Given the description of an element on the screen output the (x, y) to click on. 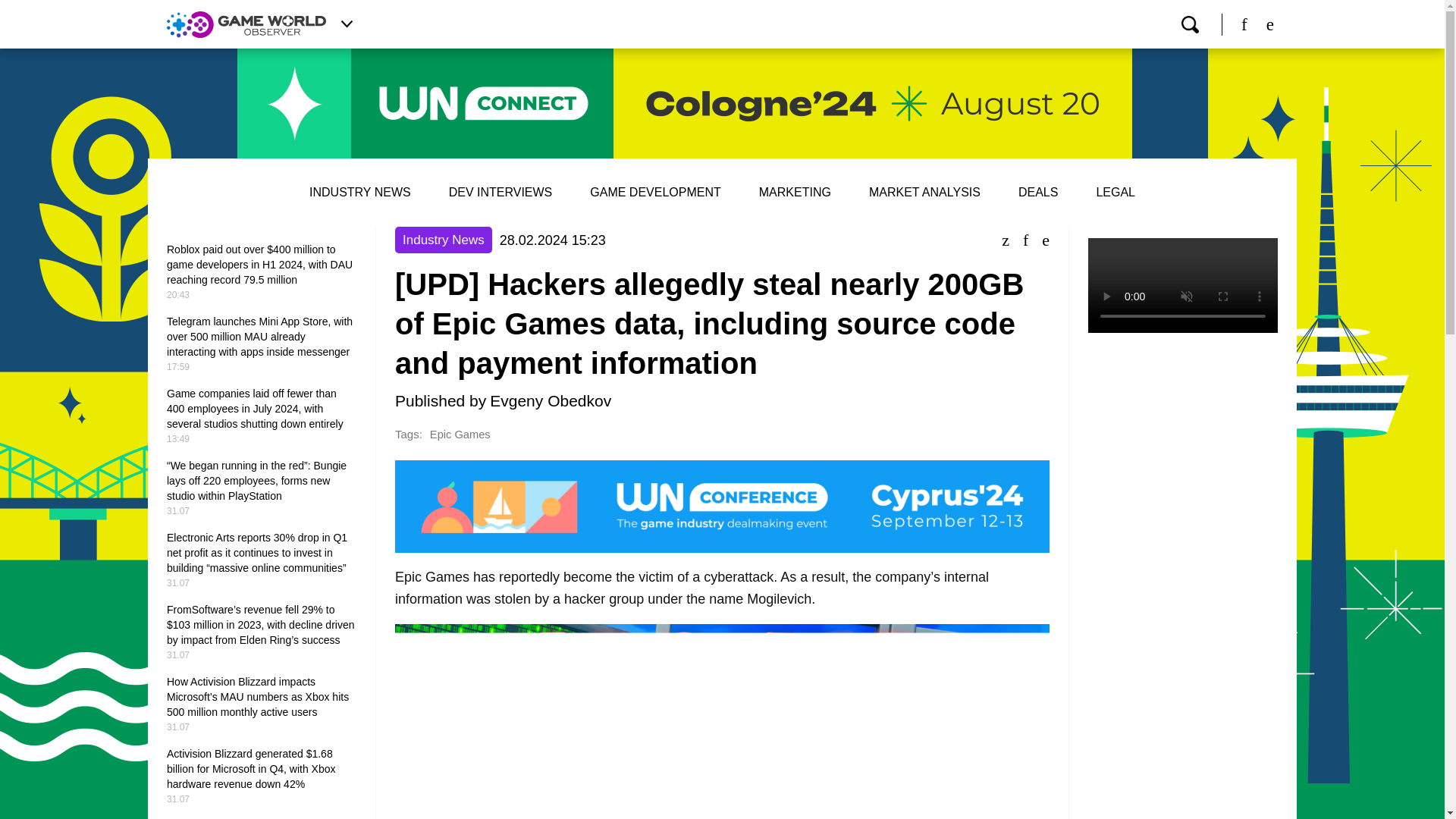
Home (246, 23)
MARKETING (794, 192)
Search (1189, 23)
GAME DEVELOPMENT (654, 192)
INDUSTRY NEWS (359, 192)
LEGAL (1115, 192)
DEV INTERVIEWS (500, 192)
MARKET ANALYSIS (924, 192)
DEALS (1037, 192)
